Given the description of an element on the screen output the (x, y) to click on. 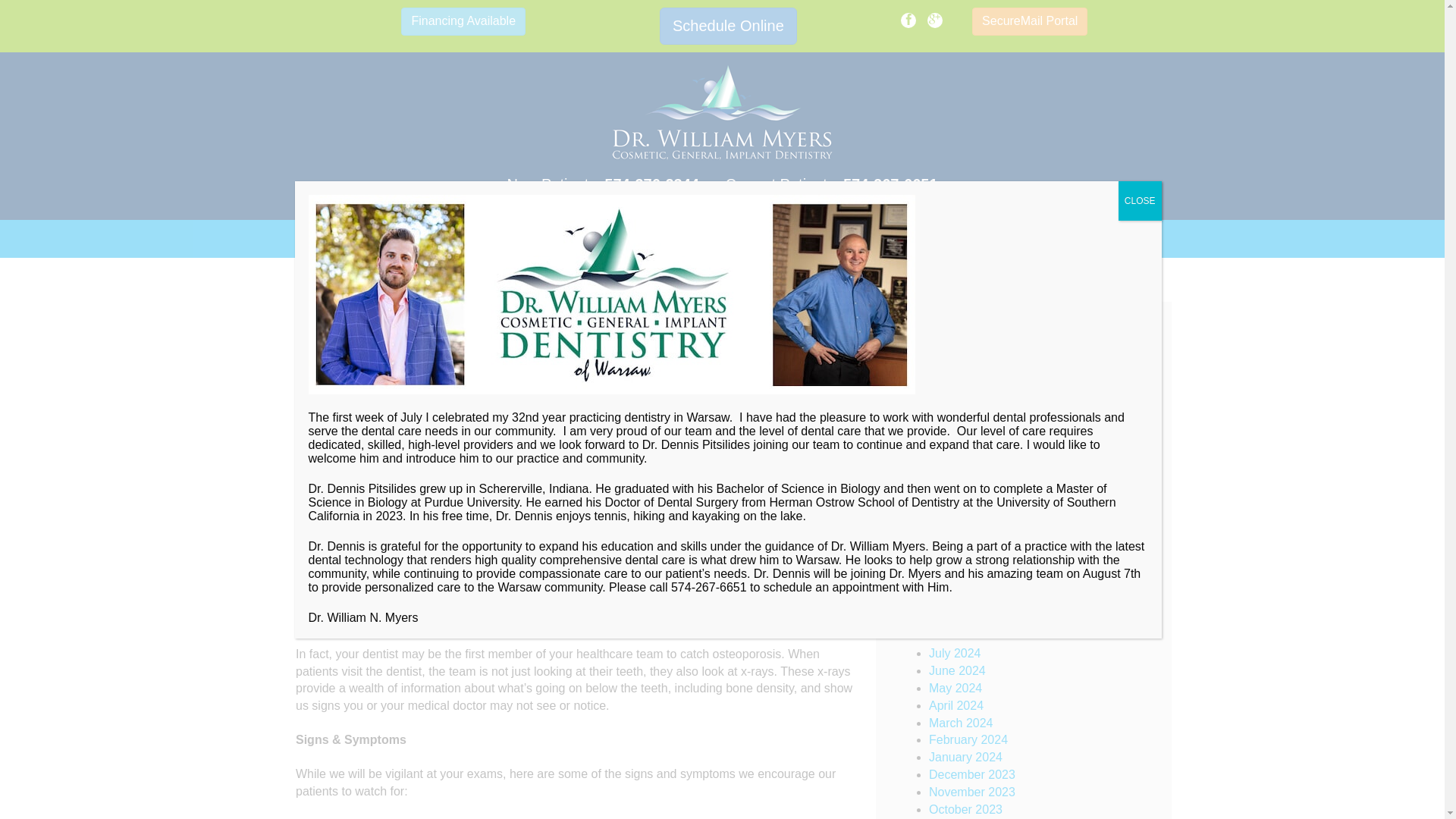
BLOG (332, 269)
mouthguards (963, 475)
Reviews (495, 238)
Gum Disease (965, 458)
Dental Emergency (978, 389)
Reviews (495, 238)
Dental Services (385, 238)
Cosmetic Dentistry (979, 371)
SecureMail Portal (1029, 21)
2504 E Center St , Warsaw , IN 46580 (722, 202)
Promotions (585, 238)
Blog (1099, 238)
Blog (1099, 238)
New Patients (690, 238)
Bruxism (950, 354)
